Given the description of an element on the screen output the (x, y) to click on. 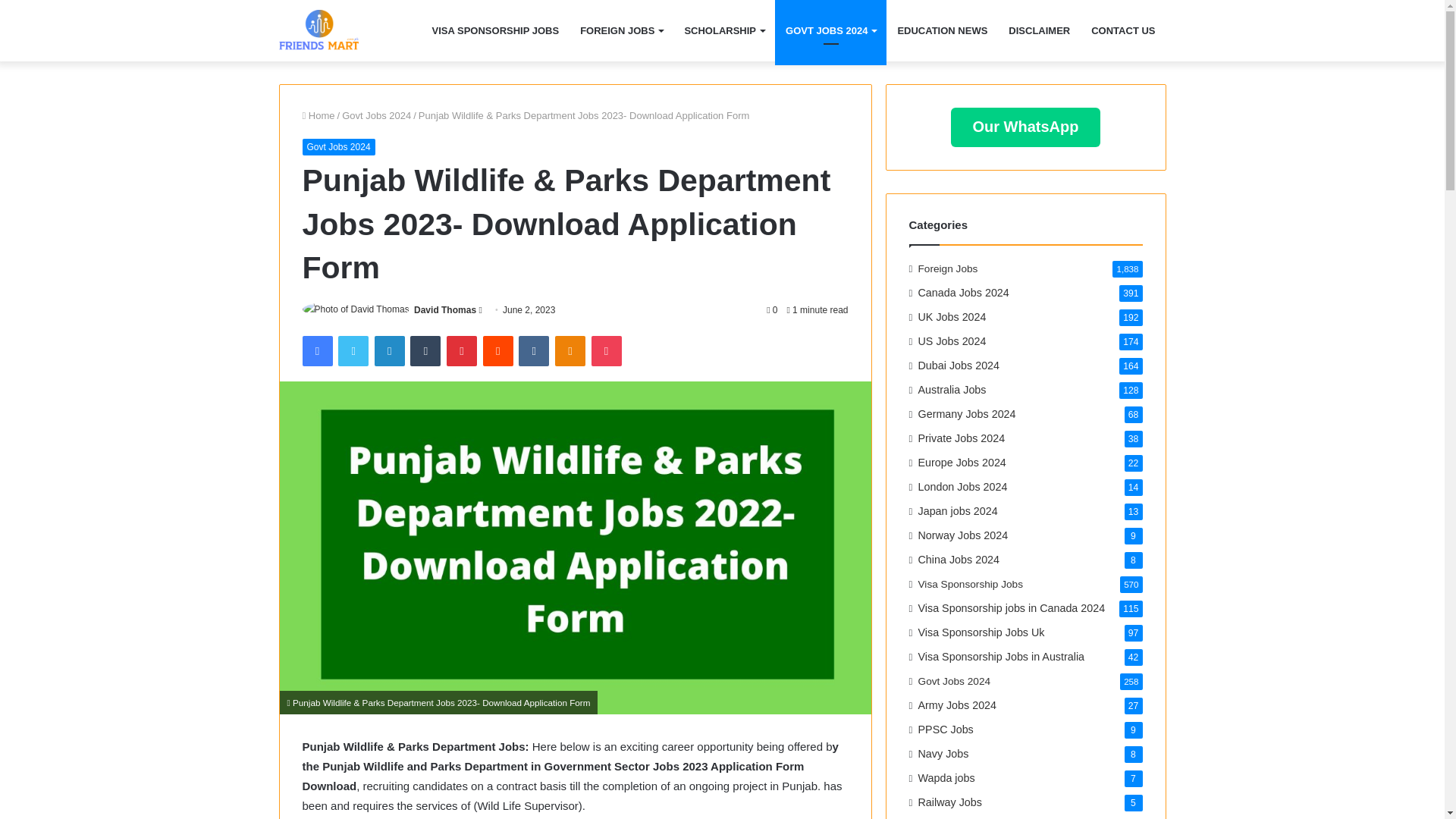
Pinterest (461, 350)
Tumblr (425, 350)
FOREIGN JOBS (620, 30)
David Thomas (444, 309)
Facebook (316, 350)
Pocket (606, 350)
EDUCATION NEWS (941, 30)
Home (317, 115)
VISA SPONSORSHIP JOBS (496, 30)
SCHOLARSHIP (723, 30)
Visa Sponsorship Jobs (318, 30)
Govt Jobs 2024 (376, 115)
Odnoklassniki (569, 350)
DISCLAIMER (1038, 30)
CONTACT US (1123, 30)
